Given the description of an element on the screen output the (x, y) to click on. 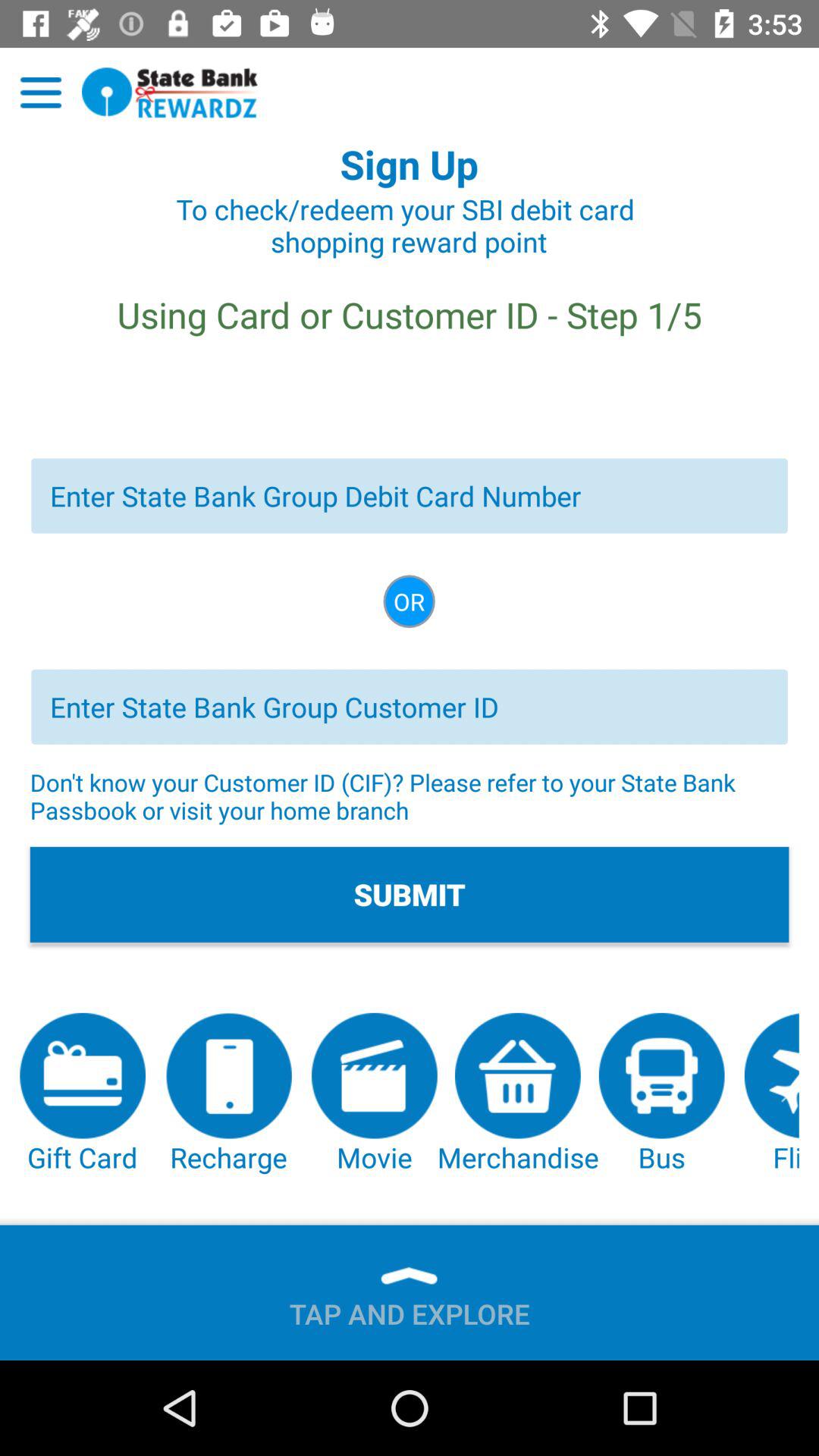
turn on the icon below submit item (82, 1094)
